Given the description of an element on the screen output the (x, y) to click on. 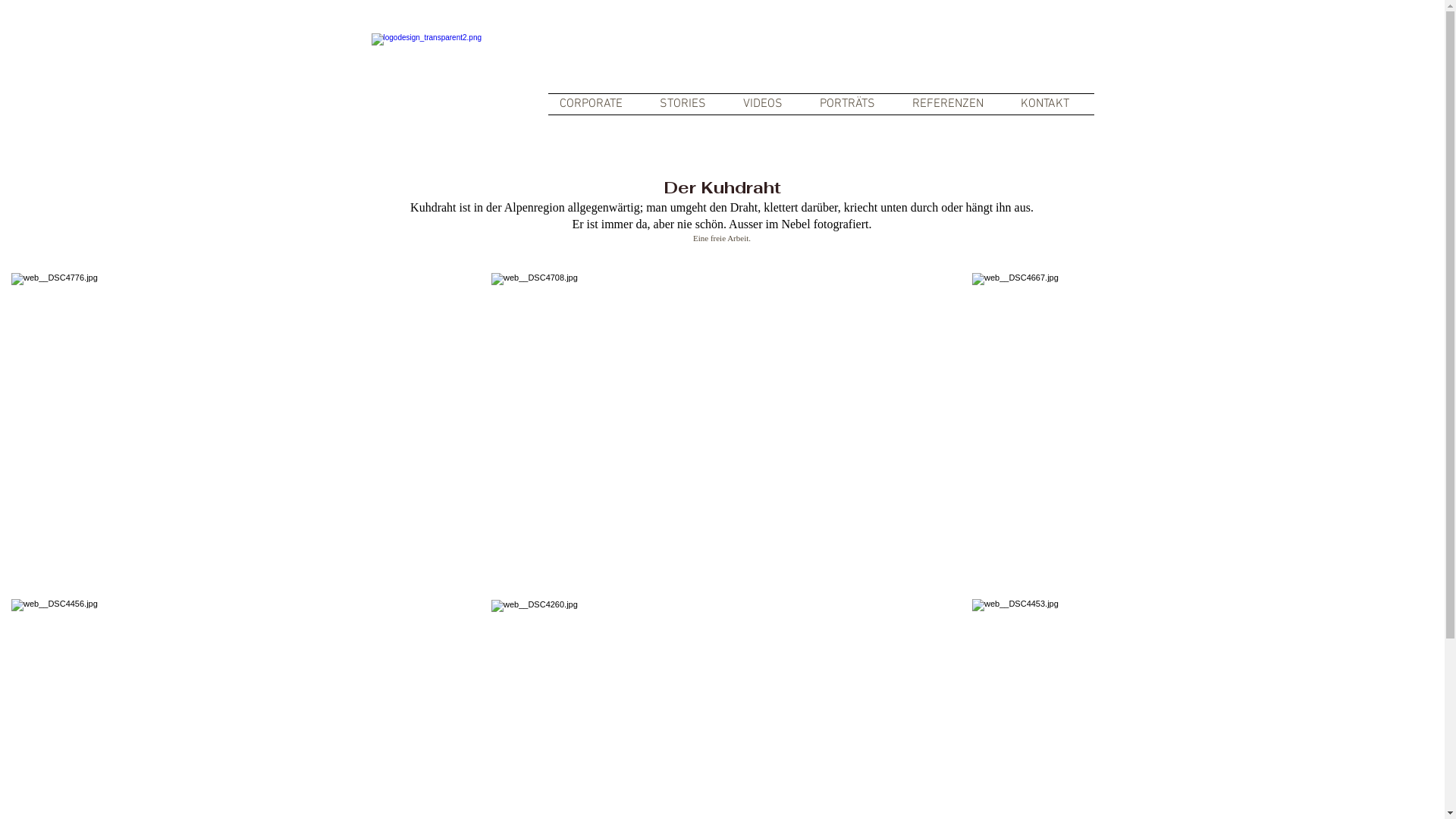
VIDEOS Element type: text (769, 104)
STORIES Element type: text (689, 104)
KONTAKT Element type: text (1050, 104)
CORPORATE Element type: text (597, 104)
REFERENZEN Element type: text (954, 104)
